Given the description of an element on the screen output the (x, y) to click on. 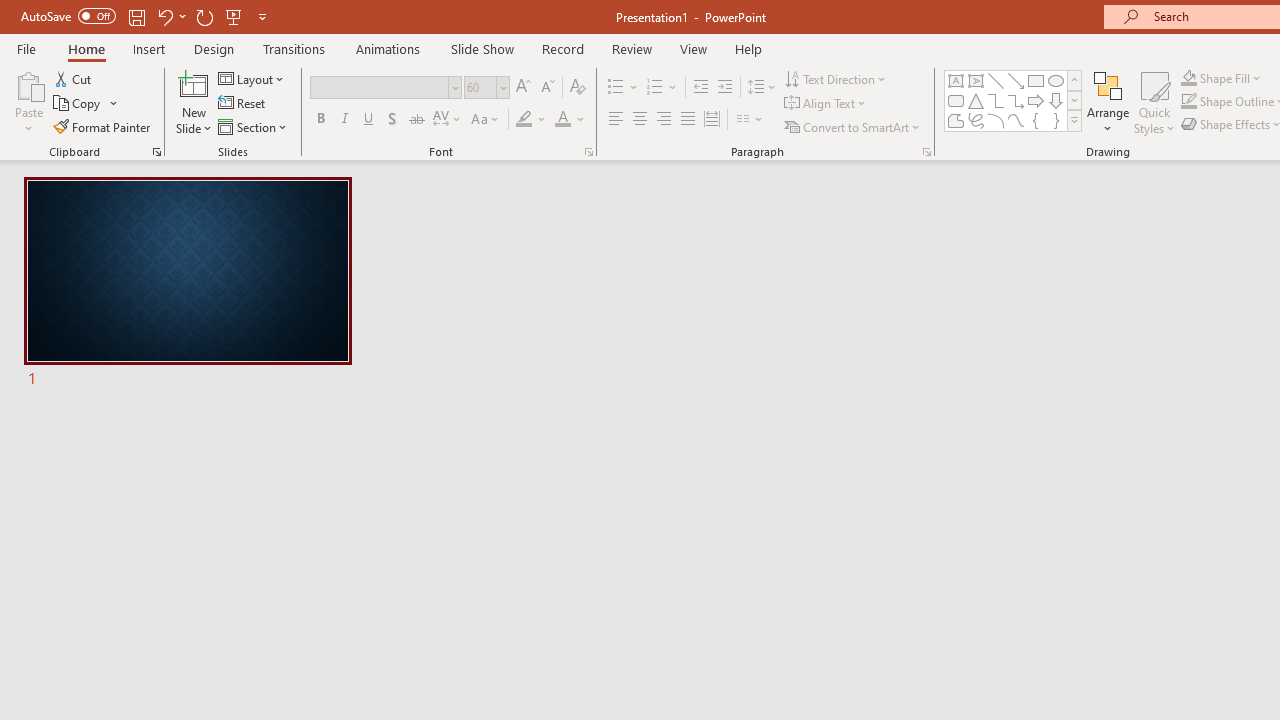
Strikethrough (416, 119)
Shape Outline Blue, Accent 1 (1188, 101)
Font... (588, 151)
Layout (252, 78)
Increase Indent (725, 87)
Distributed (712, 119)
Align Text (826, 103)
Reset (243, 103)
Oval (1055, 80)
